Given the description of an element on the screen output the (x, y) to click on. 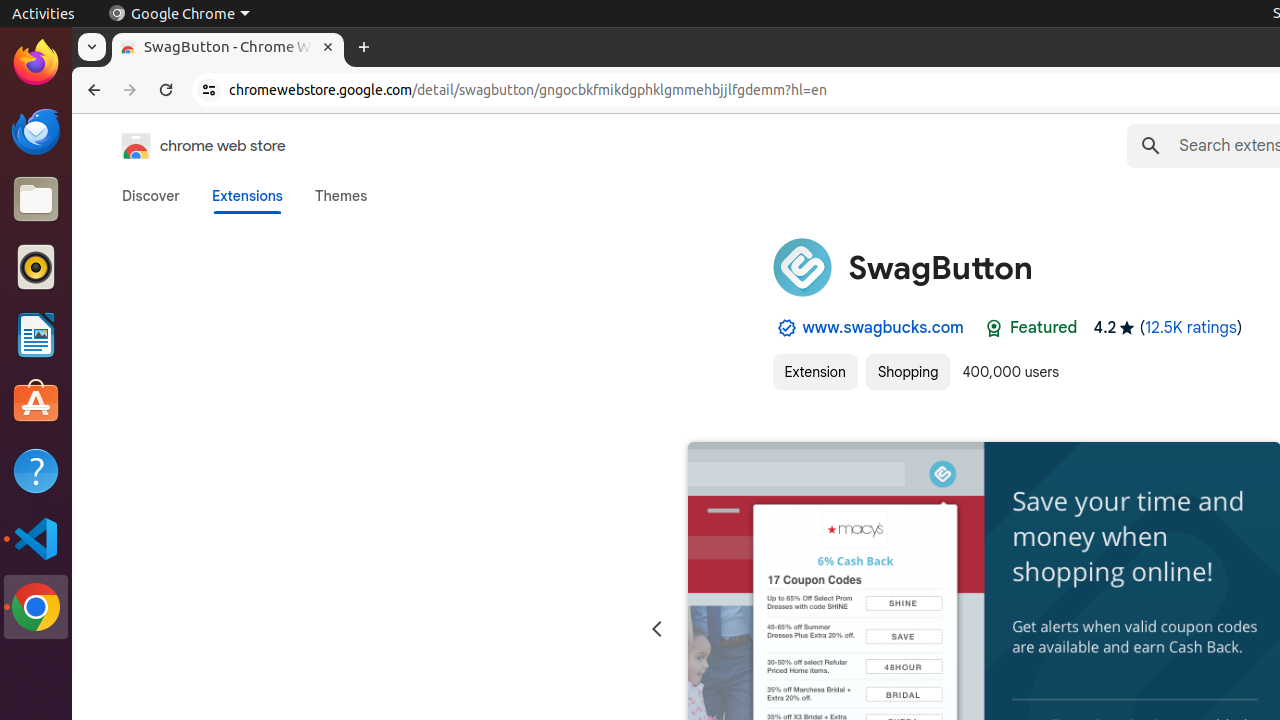
Back Element type: push-button (91, 90)
By Established Publisher Badge Element type: push-button (786, 328)
Extensions Element type: page-tab (247, 196)
View site information Element type: push-button (209, 90)
Shopping Element type: link (908, 372)
